Given the description of an element on the screen output the (x, y) to click on. 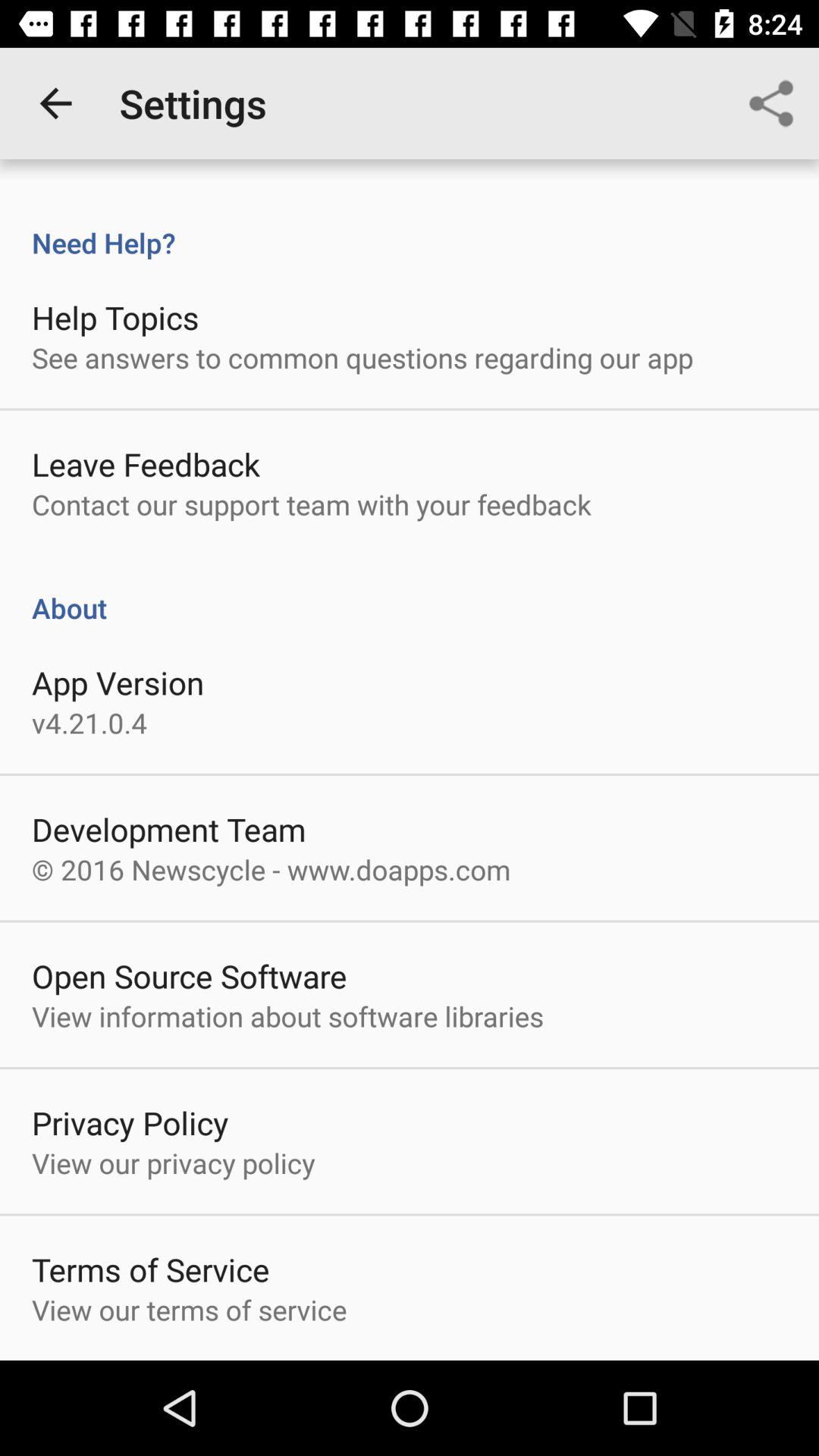
scroll until the help topics (115, 316)
